Given the description of an element on the screen output the (x, y) to click on. 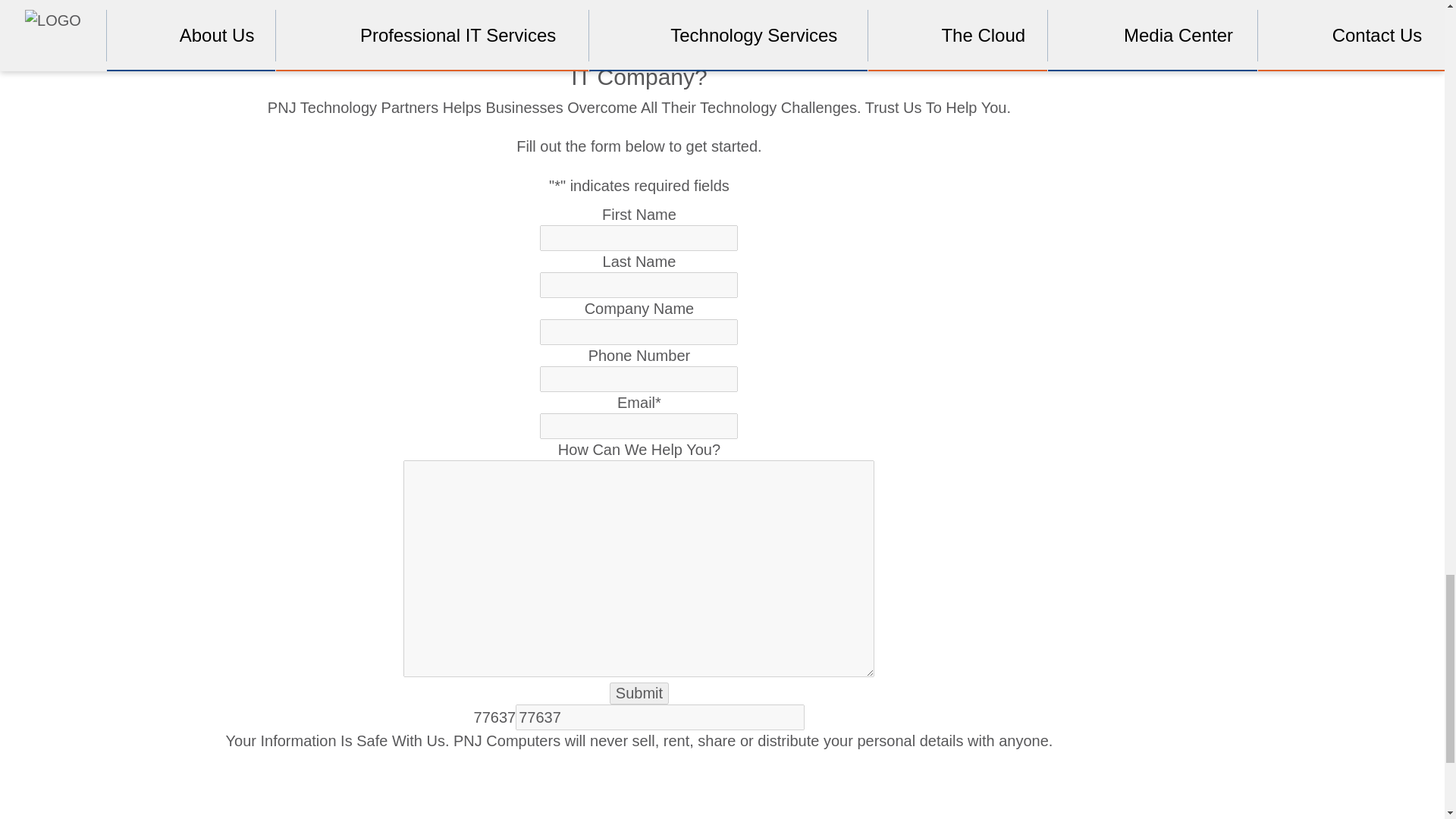
77637 (660, 717)
Submit (639, 693)
